Given the description of an element on the screen output the (x, y) to click on. 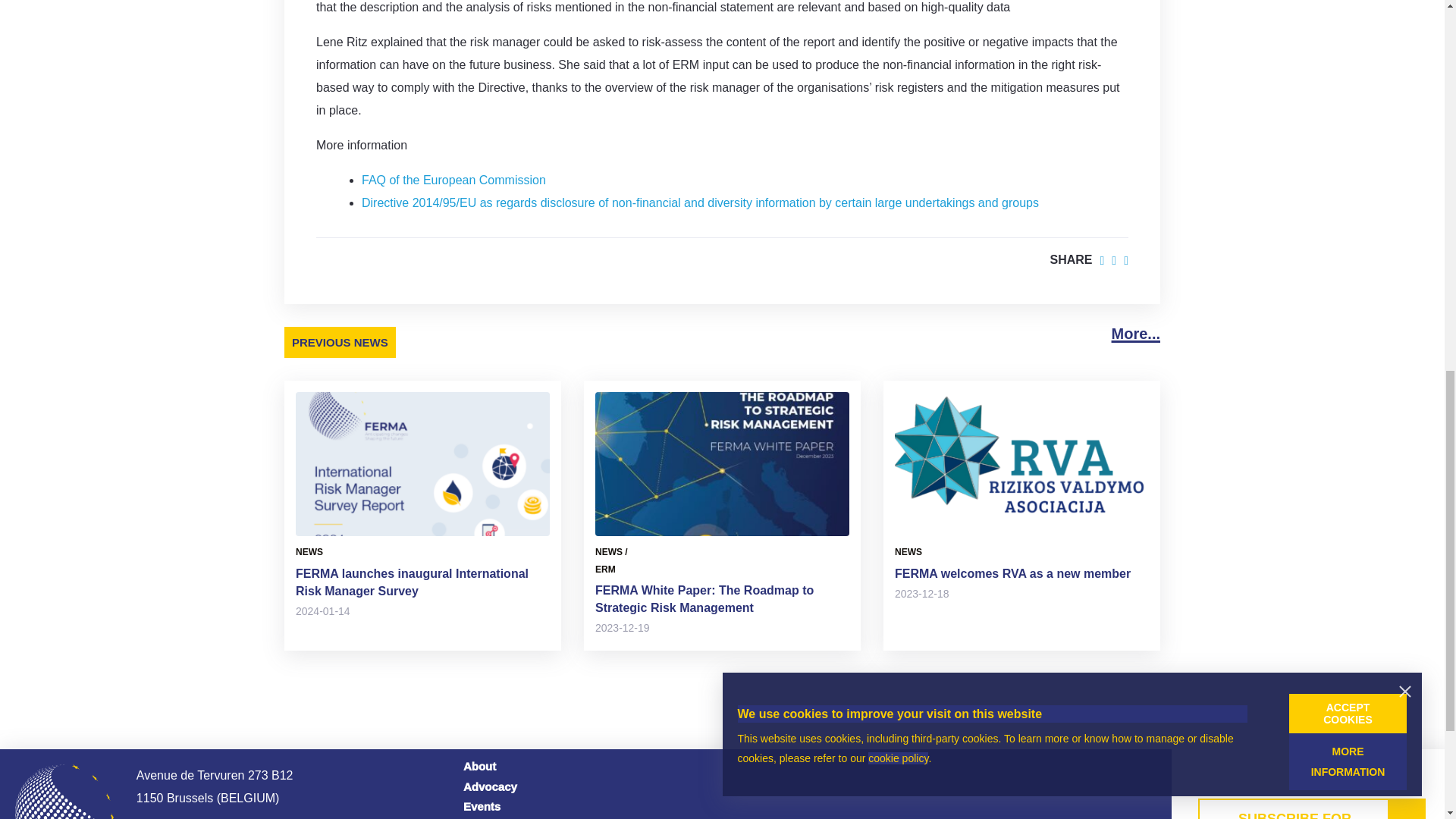
FAQ of the European Commission (453, 179)
